Given the description of an element on the screen output the (x, y) to click on. 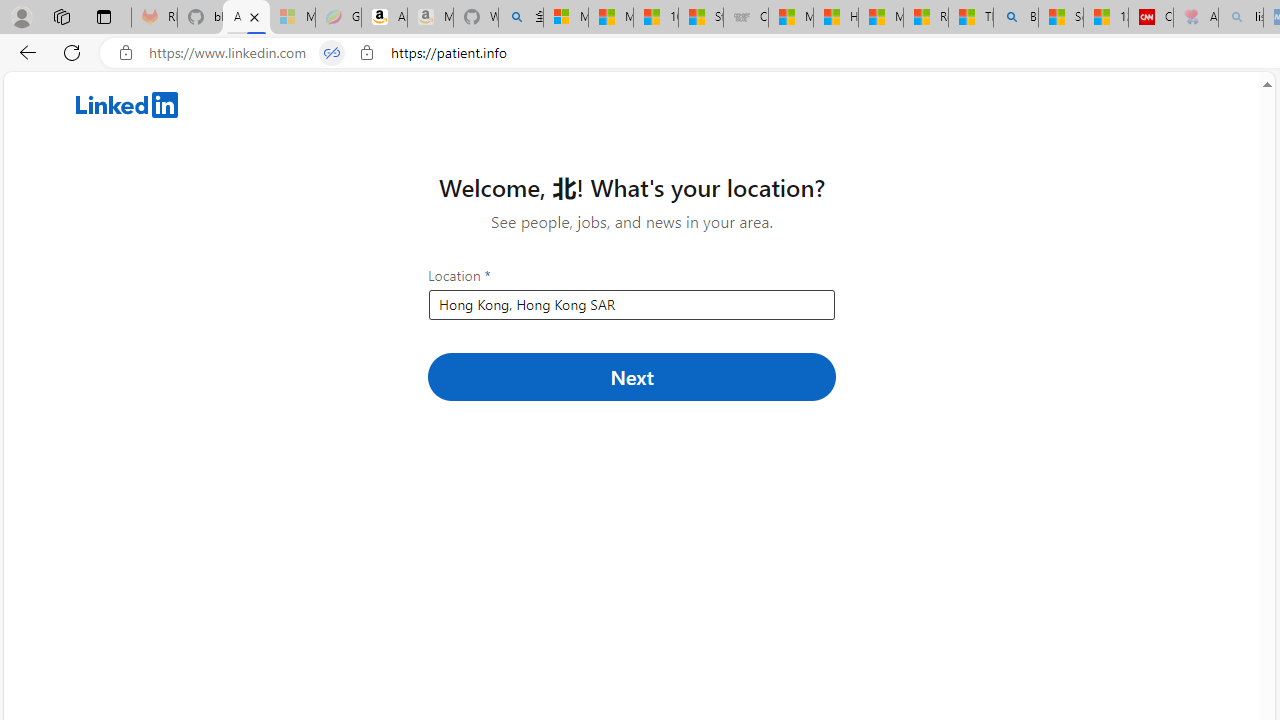
Arthritis: Ask Health Professionals - Sleeping (1195, 17)
Tabs in split screen (331, 53)
